Given the description of an element on the screen output the (x, y) to click on. 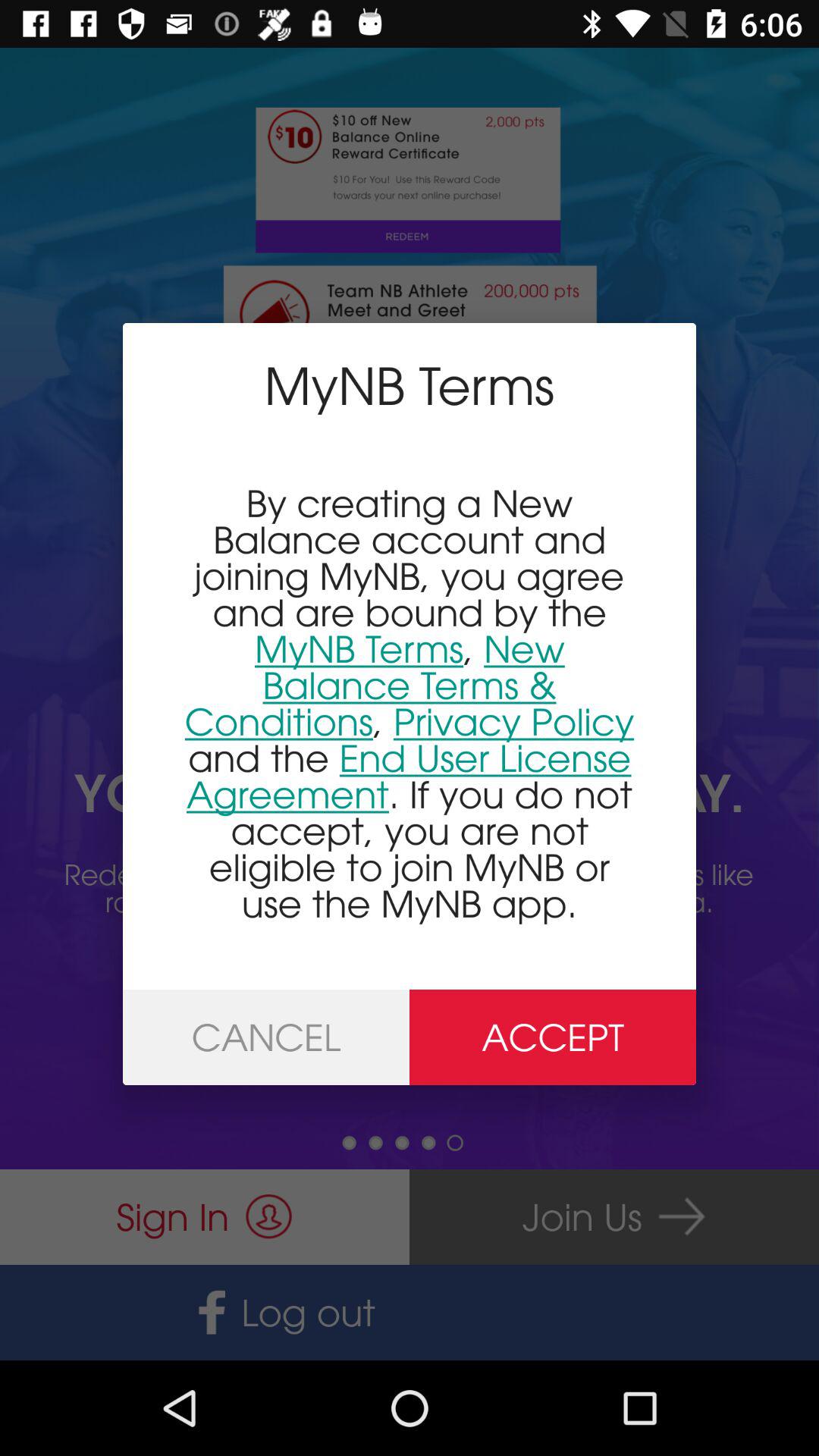
tap the icon to the left of accept item (265, 1037)
